Given the description of an element on the screen output the (x, y) to click on. 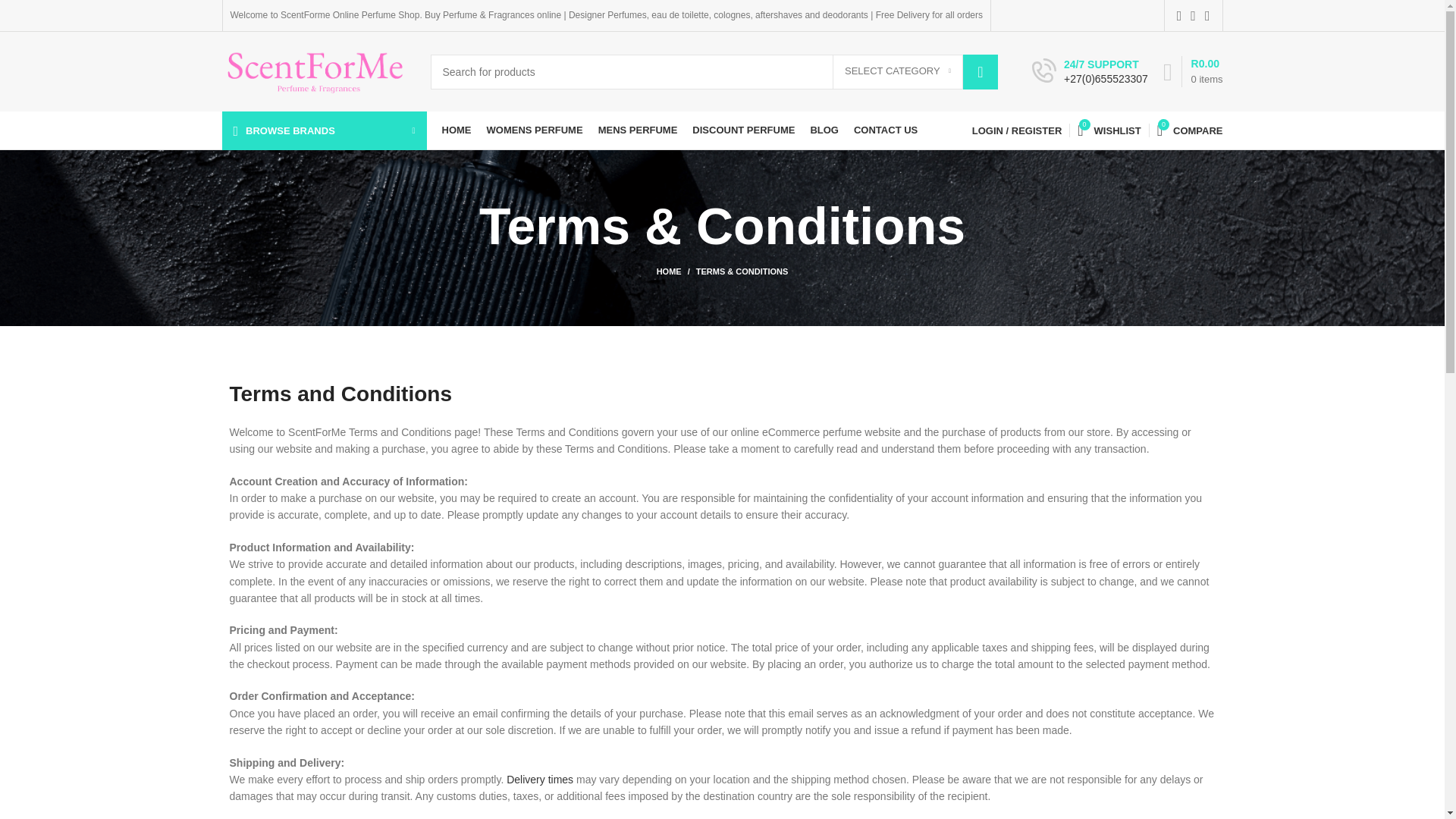
My account (1015, 130)
Search for products (713, 71)
My Wishlist (1109, 130)
Shopping cart (1193, 71)
SELECT CATEGORY (897, 70)
Compare products (1190, 130)
SELECT CATEGORY (897, 70)
